Given the description of an element on the screen output the (x, y) to click on. 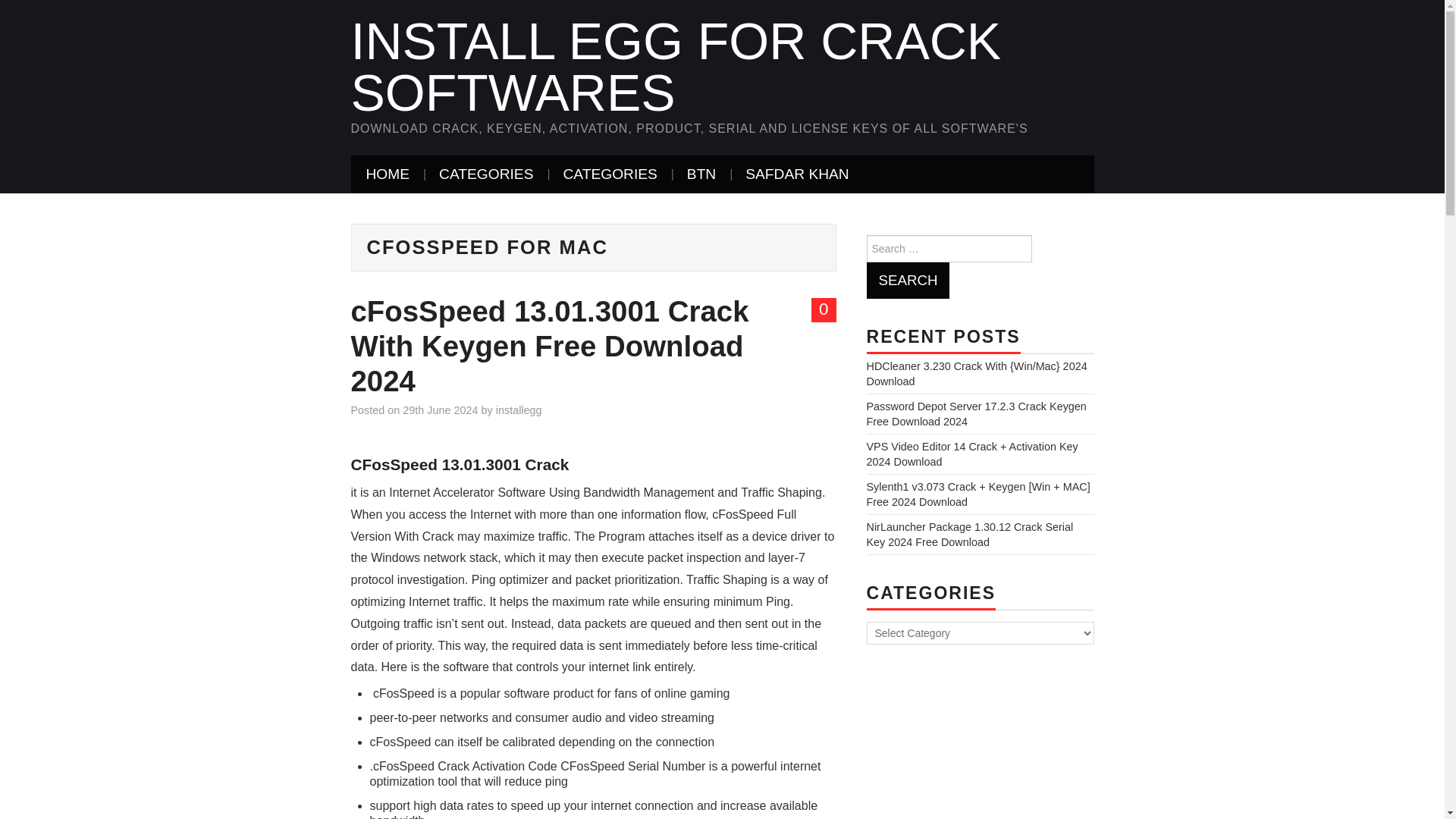
BTN (700, 174)
29th June 2024 (440, 410)
0 (822, 310)
Search for: (948, 248)
View all posts by installegg (518, 410)
Search (907, 280)
cFosSpeed 13.01.3001 Crack With Keygen Free Download 2024 (549, 345)
Install Egg for Crack Softwares (675, 66)
HOME (387, 174)
Search (907, 280)
SAFDAR KHAN (796, 174)
CATEGORIES (485, 174)
installegg (518, 410)
CATEGORIES (609, 174)
INSTALL EGG FOR CRACK SOFTWARES (675, 66)
